Given the description of an element on the screen output the (x, y) to click on. 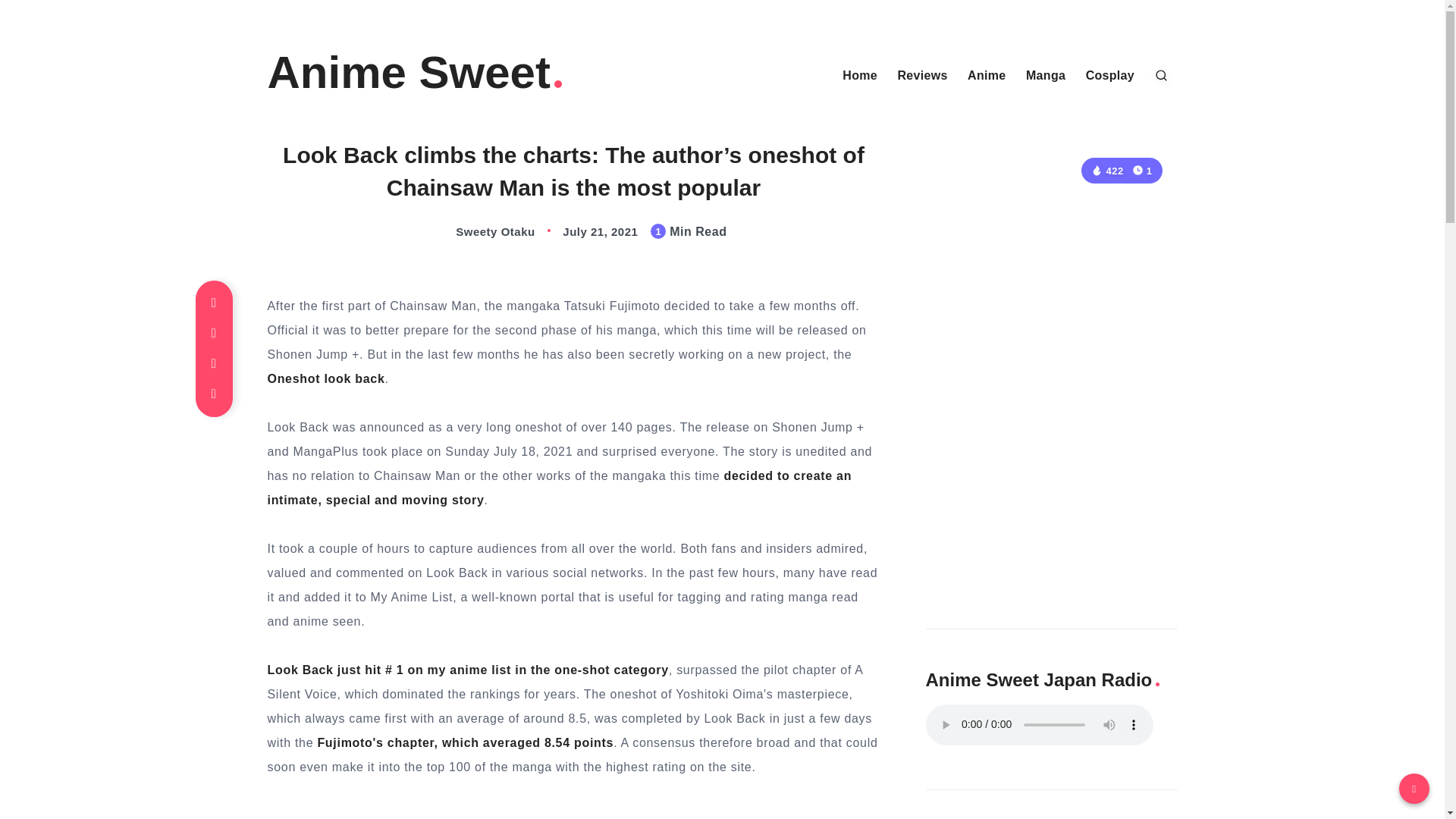
Sweety Otaku (479, 231)
Anime Sweet (415, 72)
Reviews (921, 75)
Home (860, 75)
1 Min Read (1142, 170)
422 Views (1106, 170)
Anime (987, 75)
Manga (1045, 75)
Cosplay (1110, 75)
Author: Sweety Otaku (479, 231)
